Given the description of an element on the screen output the (x, y) to click on. 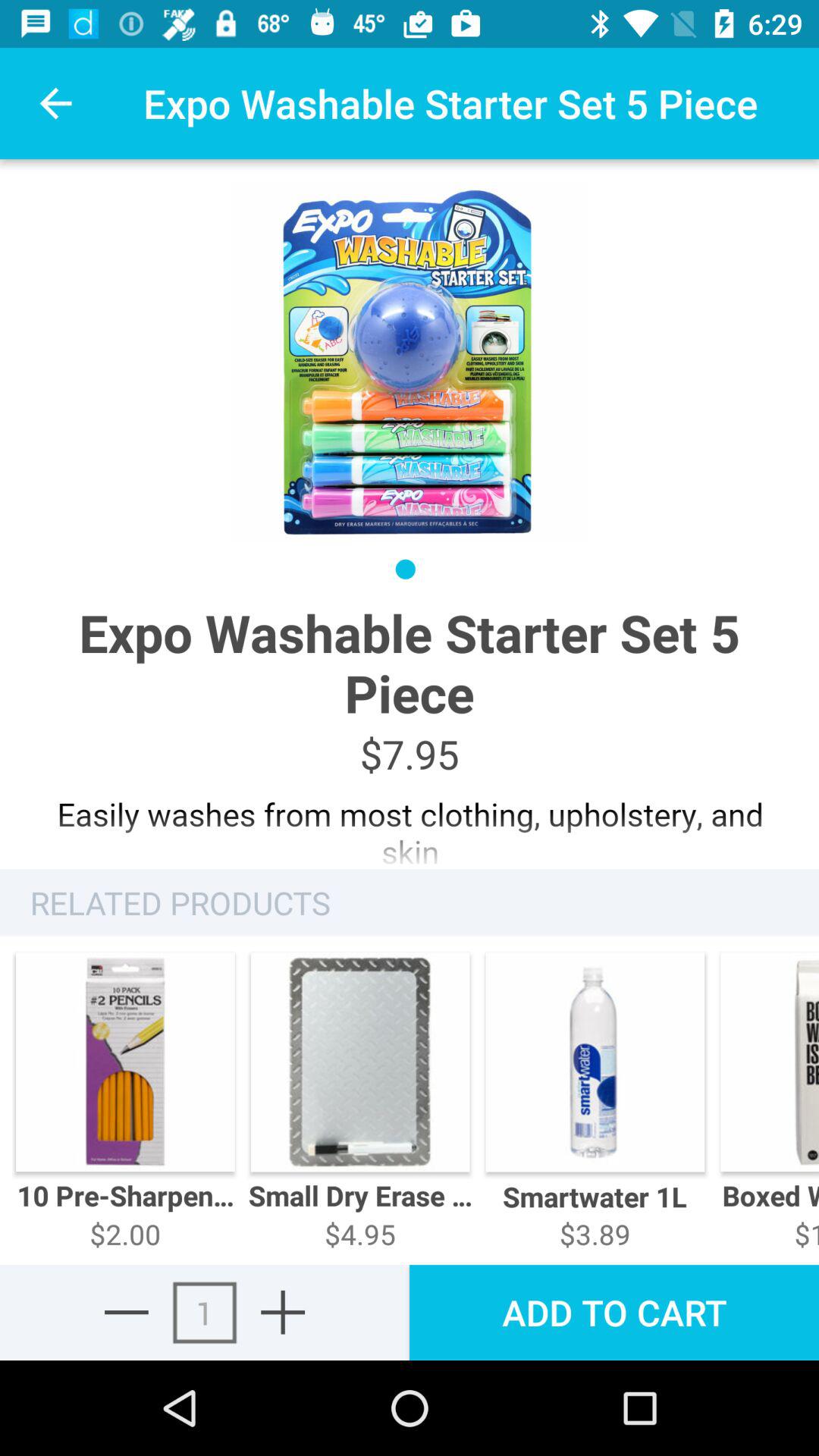
advertisement link (409, 824)
